Given the description of an element on the screen output the (x, y) to click on. 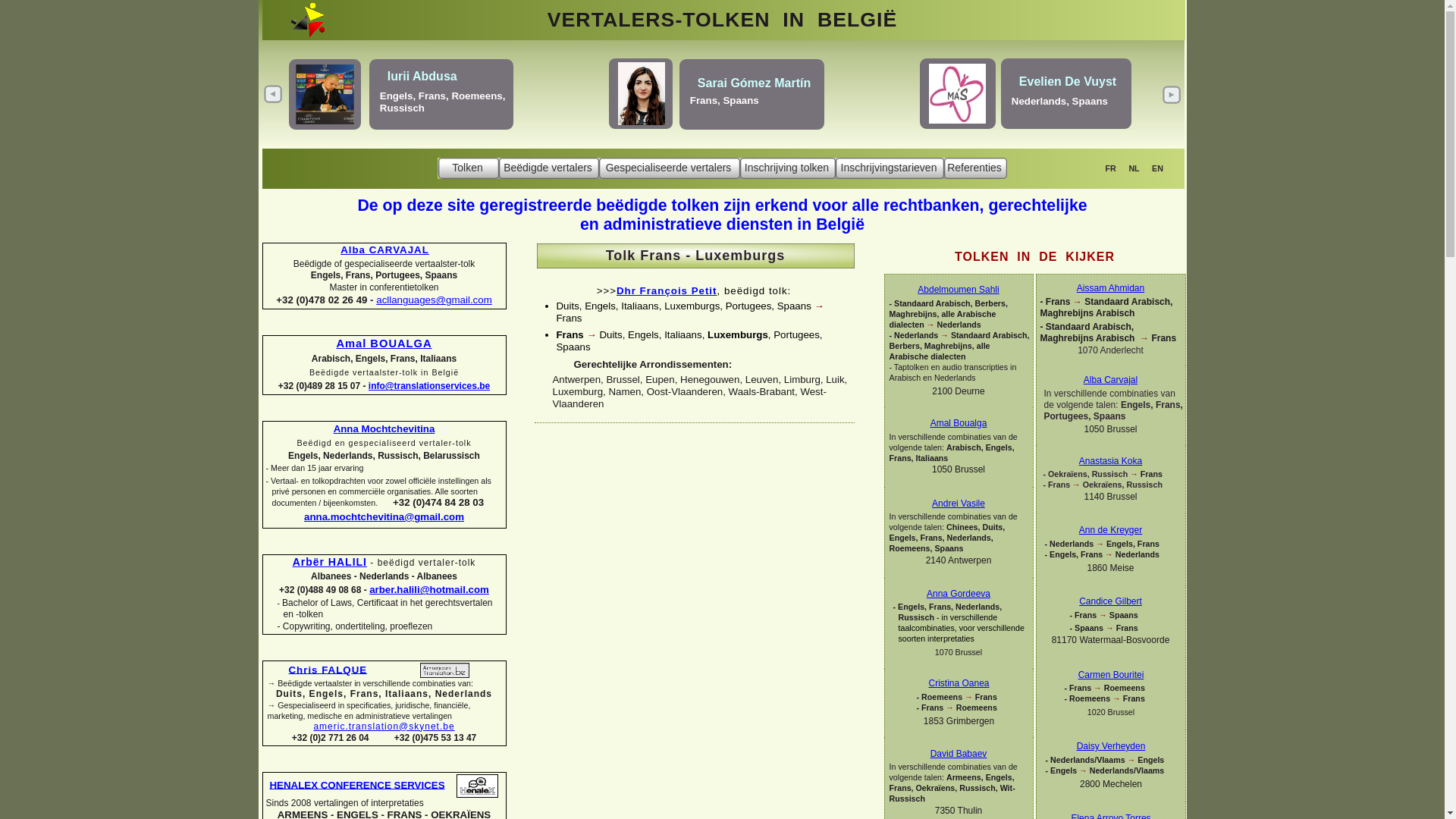
HENALEX CONFERENCE SERVICES Element type: text (357, 784)
anna.mochtchevitina@gmail.com Element type: text (384, 516)
David Babaev Element type: text (958, 753)
info@translationservices.be Element type: text (428, 385)
Chris FALQUE Element type: text (327, 668)
Alba CARVAJAL Element type: text (384, 249)
Anna Gordeeva Element type: text (958, 593)
Chris Falque - Amercian Translation Element type: hover (444, 669)
Tolken Element type: text (468, 167)
Candice Gilbert Element type: text (1110, 601)
Gratis de contact gegevens van een tolk in uw buurt Element type: hover (720, 74)
Ann de Kreyger Element type: text (1110, 529)
Andrei Vasile Element type: text (958, 503)
Fatma Iferoudjene Element type: text (761, 76)
acllanguages@gmail.com Element type: text (433, 299)
Abdelmoumen Sahli Element type: text (957, 289)
Ylber Zejnullahu Element type: text (1052, 78)
Inschrijving tolken Element type: text (787, 167)
Aissam Ahmidan Element type: text (1110, 287)
Albanees, Bosnisch, Engels, Frans, Kroatisch Element type: text (1061, 101)
NL Element type: text (1133, 167)
David Babaev - Henalex Conference Services Element type: hover (477, 785)
EN Element type: text (1157, 167)
Hella Povazsay Element type: text (445, 83)
Alba Carvajal Element type: text (1110, 379)
Carmen Bouritei Element type: text (1111, 674)
Amal Boualga Element type: text (958, 422)
americ.translation@skynet.be Element type: text (383, 726)
Anna Mochtchevitina Element type: text (384, 428)
FR Element type: text (1109, 167)
Amal BOUALGA Element type: text (383, 343)
Frans-Luxemburgs Element type: text (754, 166)
Engels, Hongaars, Nederlands Element type: text (466, 103)
Inschrijvingstarieven Element type: text (889, 167)
Anastasia Koka Element type: text (1110, 460)
Gespecialiseerde vertalers Element type: text (669, 167)
Referenties Element type: text (974, 167)
arber.halili@hotmail.com Element type: text (429, 589)
Cristina Oanea Element type: text (958, 682)
Arabisch, Berber (Amazigh), Element type: text (768, 96)
Daisy Verheyden Element type: text (1110, 745)
Frans Element type: text (715, 108)
